Given the description of an element on the screen output the (x, y) to click on. 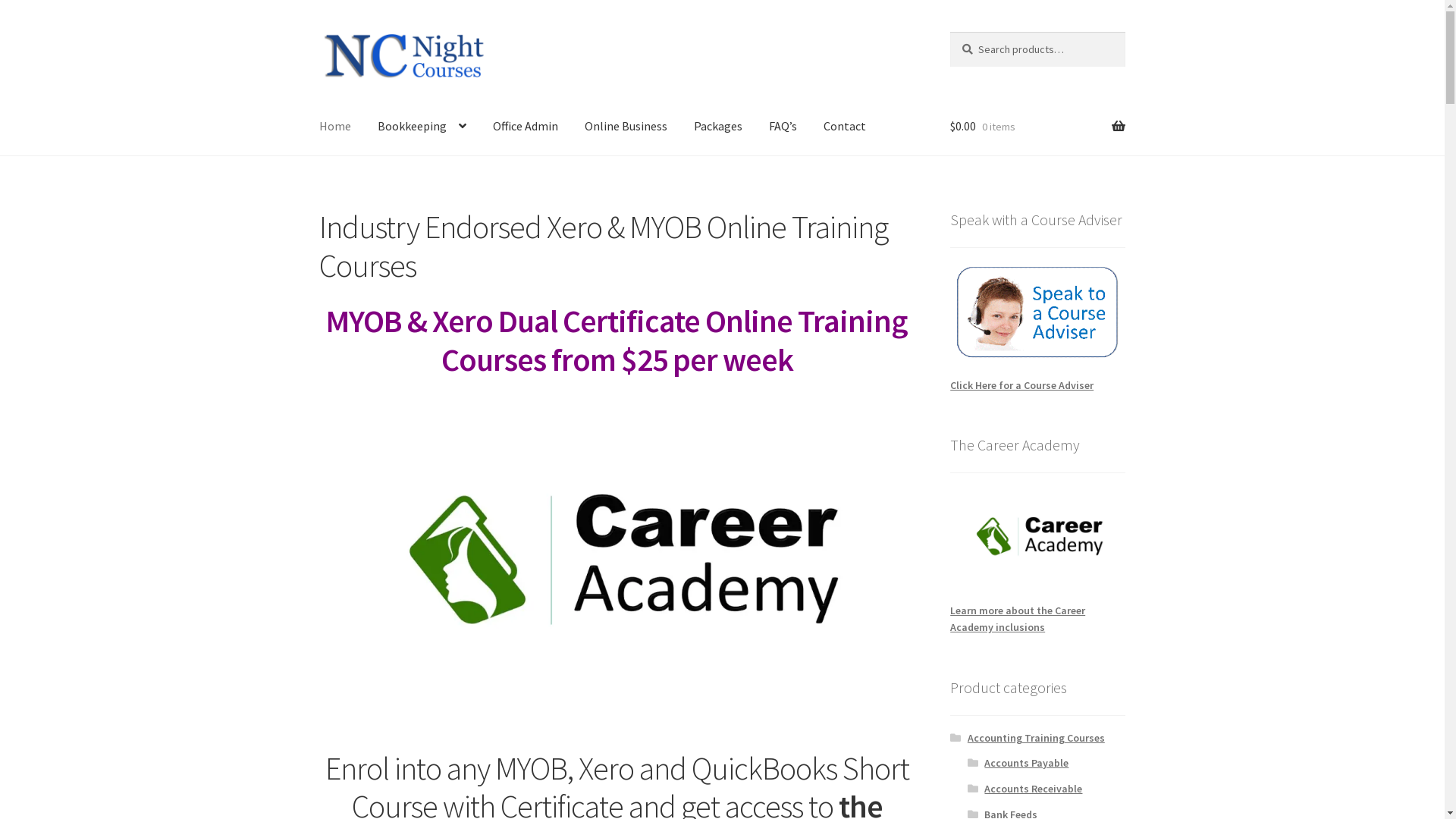
Accounts Payable Element type: text (1026, 762)
$0.00 0 items Element type: text (1037, 126)
Learn more about the Career Academy inclusions Element type: text (1017, 618)
Click Here for a Course Adviser Element type: text (1021, 385)
Accounts Receivable Element type: text (1033, 788)
Online Business Element type: text (625, 126)
Search Element type: text (949, 31)
Accounting Training Courses Element type: text (1035, 737)
Skip to navigation Element type: text (318, 31)
Contact Element type: text (844, 126)
Bookkeeping Element type: text (421, 126)
Home Element type: text (335, 126)
Packages Element type: text (717, 126)
Office Admin Element type: text (525, 126)
